Given the description of an element on the screen output the (x, y) to click on. 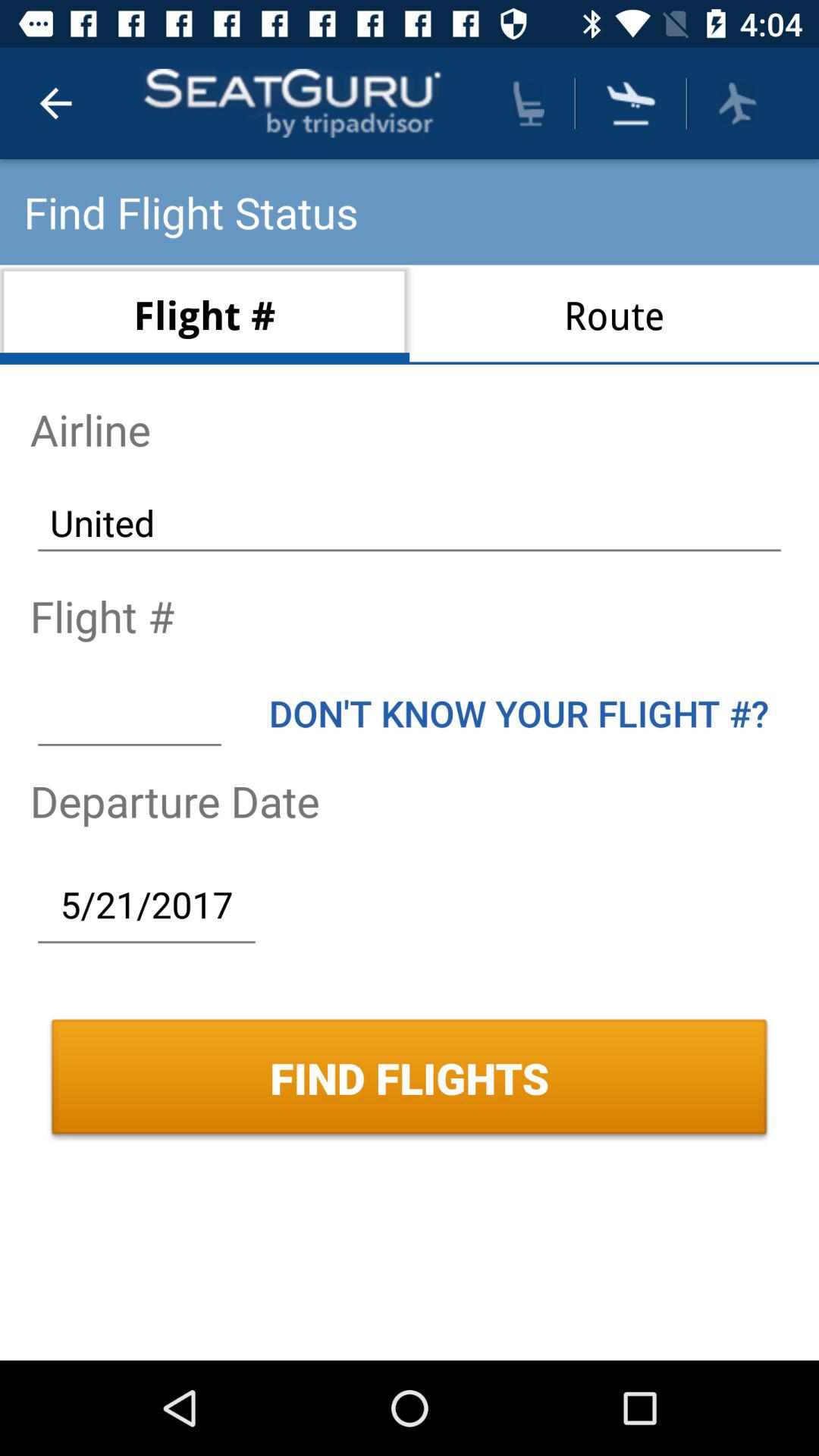
flight status (737, 103)
